Given the description of an element on the screen output the (x, y) to click on. 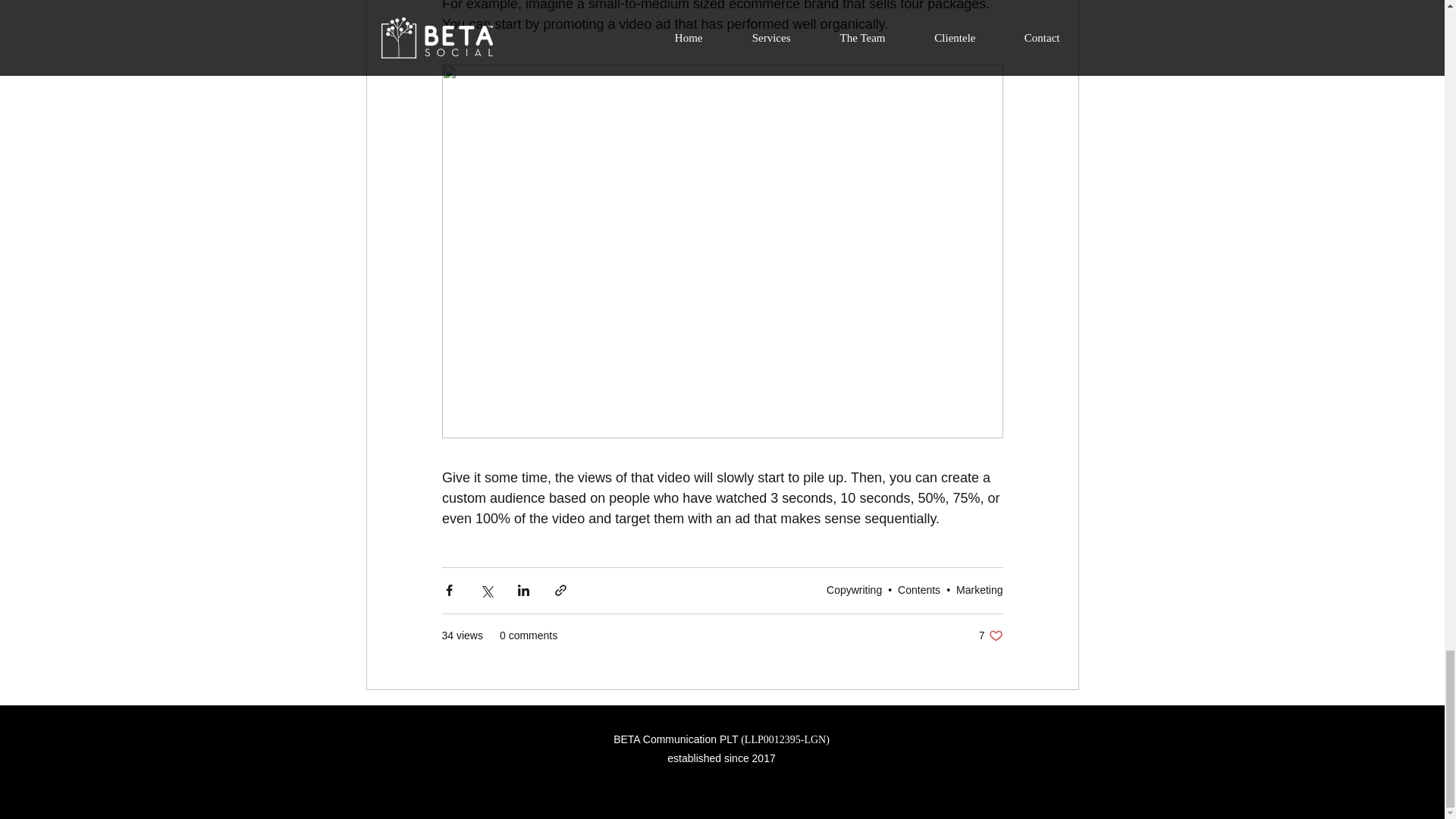
Copywriting (854, 589)
Contents (919, 589)
Marketing (979, 589)
